Given the description of an element on the screen output the (x, y) to click on. 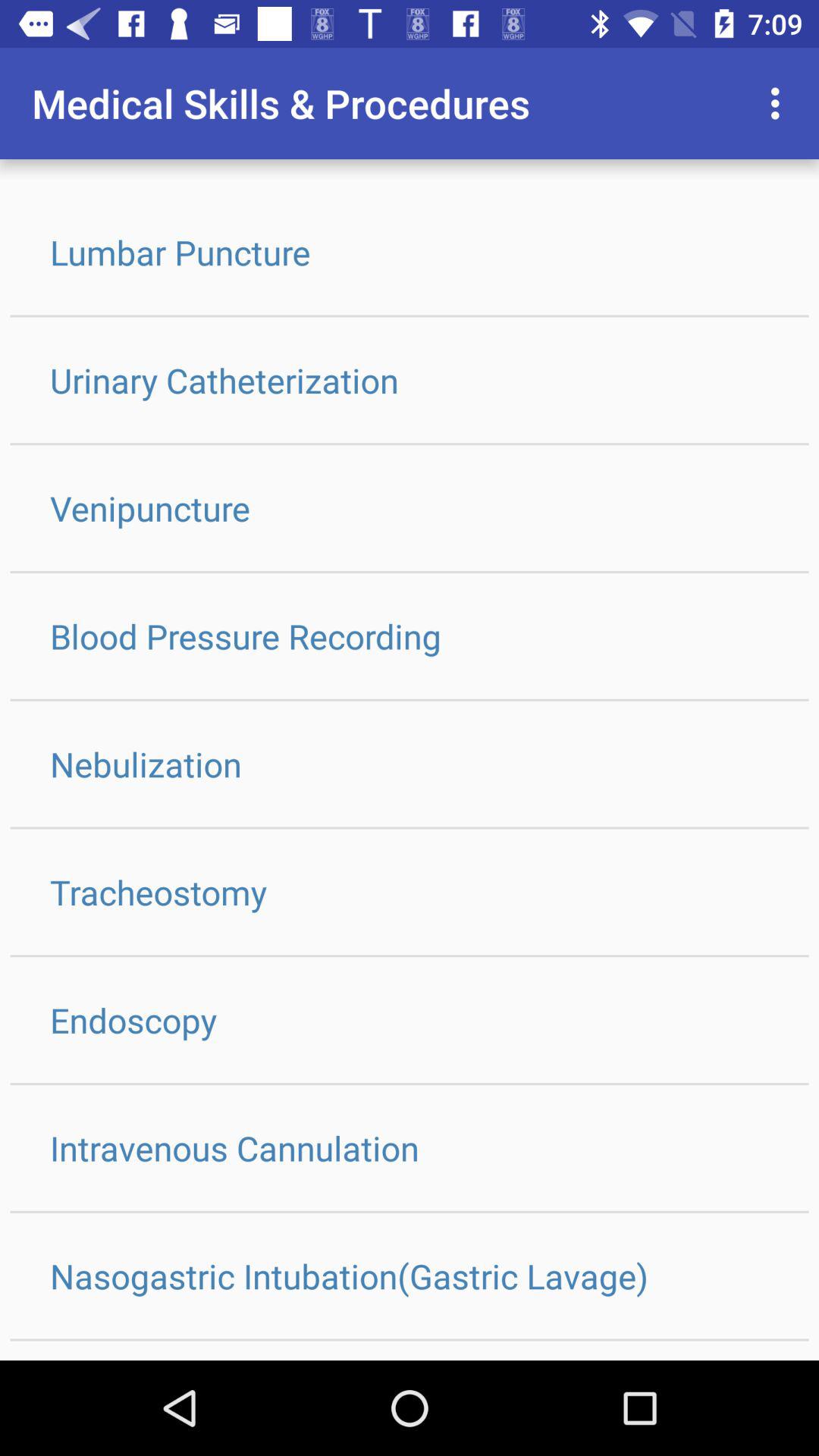
press the icon below the blood pressure recording (409, 763)
